Given the description of an element on the screen output the (x, y) to click on. 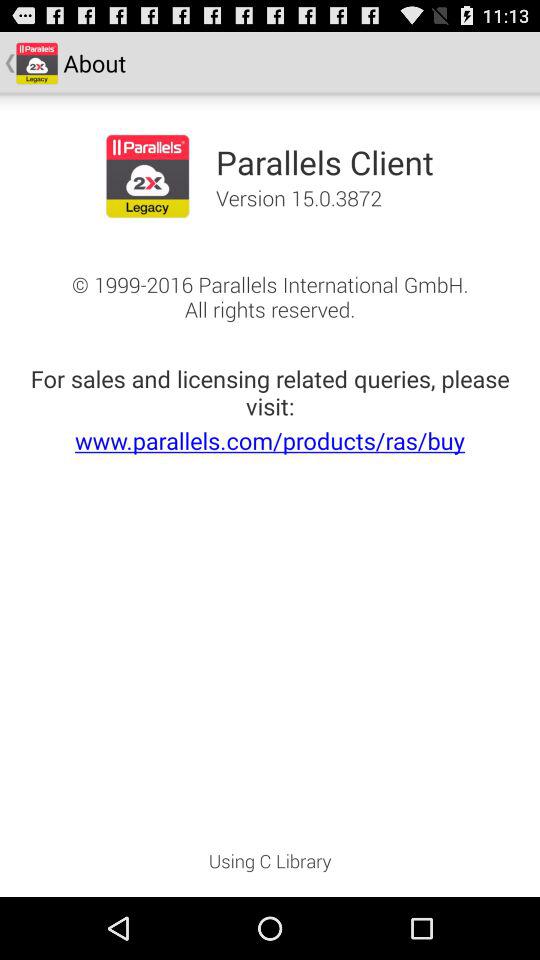
turn off app at the bottom (269, 867)
